Given the description of an element on the screen output the (x, y) to click on. 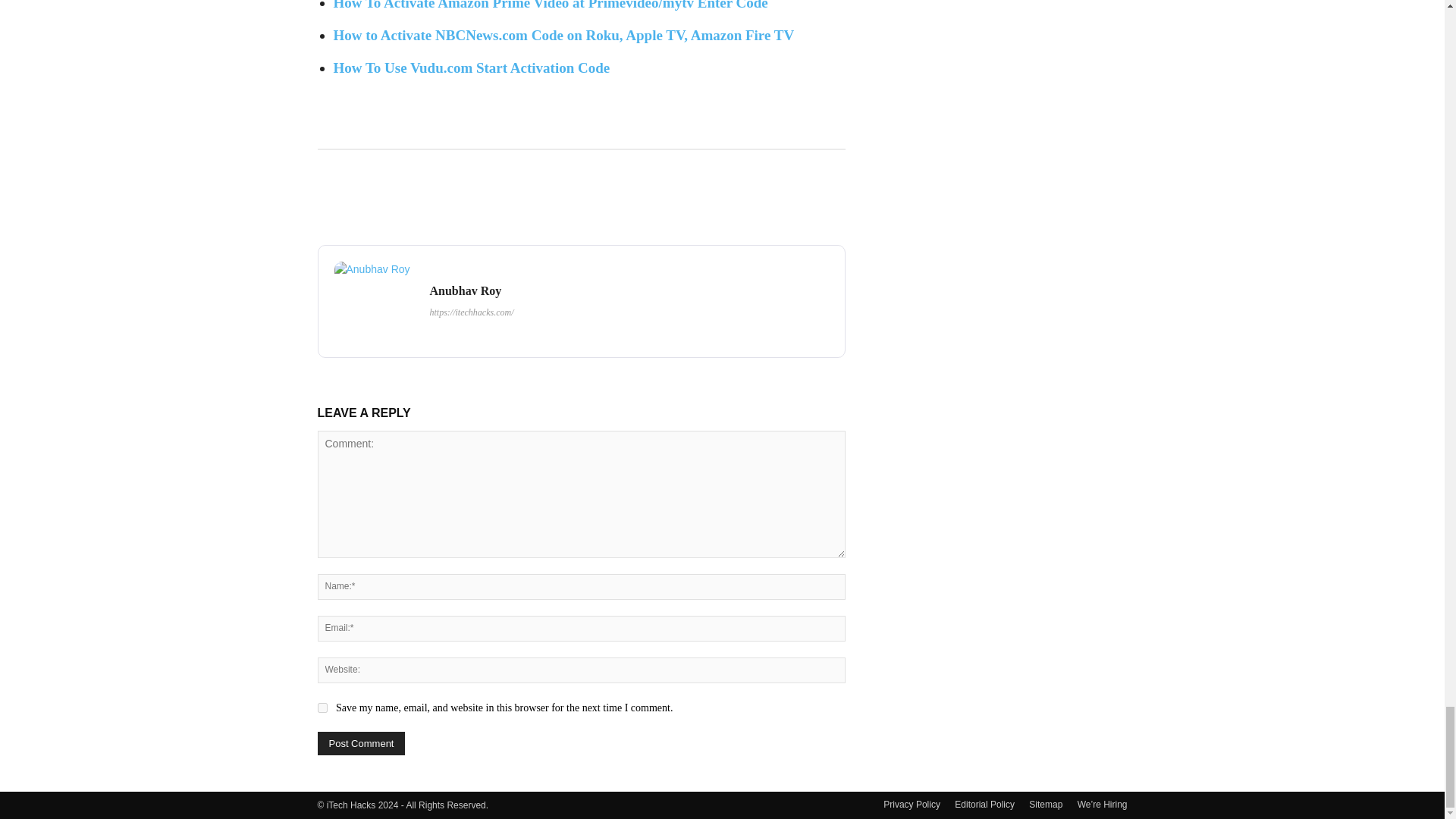
Post Comment (360, 743)
yes (321, 707)
